Given the description of an element on the screen output the (x, y) to click on. 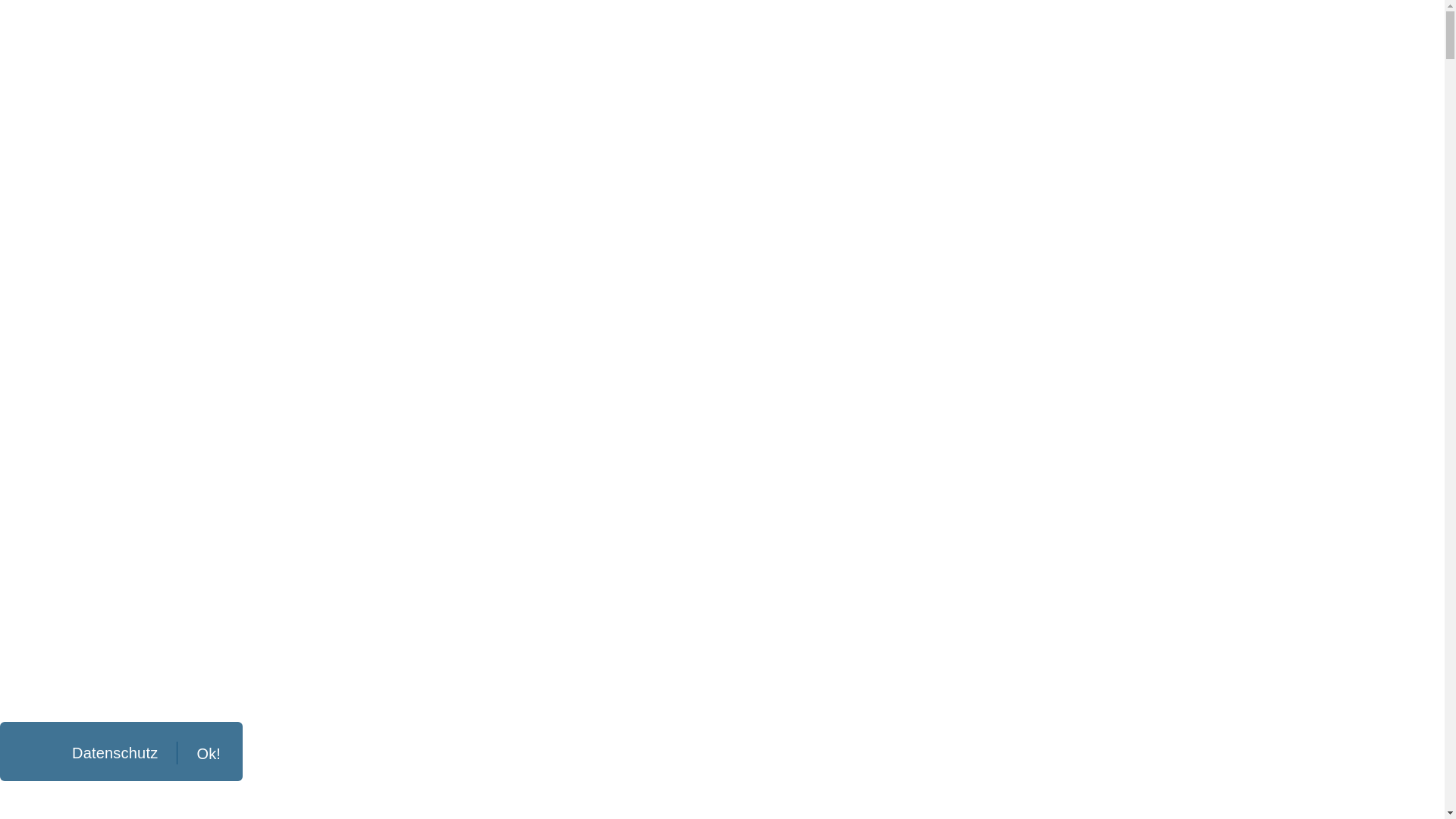
Ok! Element type: text (198, 752)
Datenschutz Element type: text (86, 753)
